Given the description of an element on the screen output the (x, y) to click on. 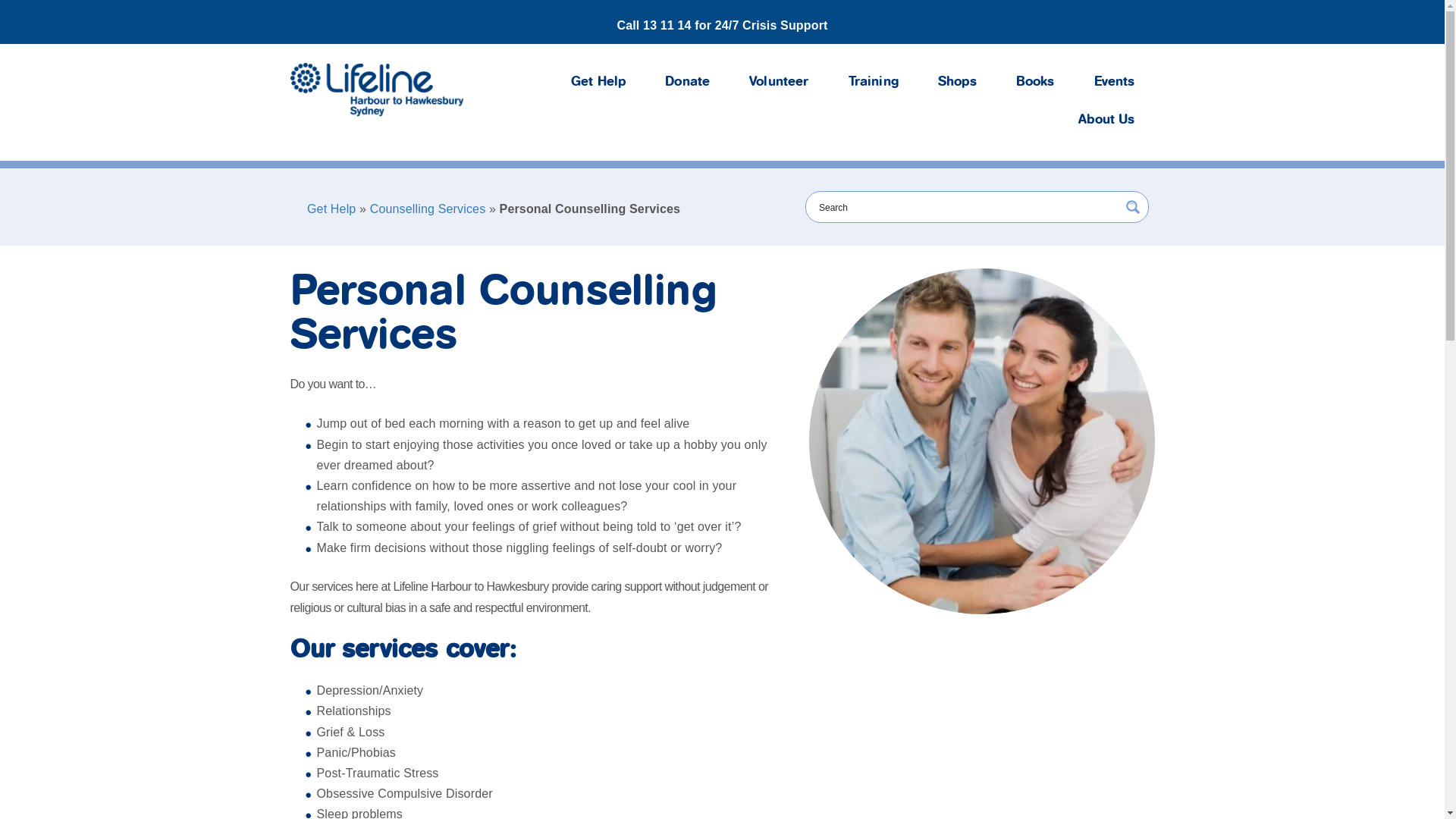
Events Element type: text (1114, 81)
Shops Element type: text (957, 81)
Donate Element type: text (687, 81)
Books Element type: text (1035, 81)
Training Element type: text (873, 81)
Lifeline Harbour to Hawkesbury Sydney Element type: hover (375, 89)
Volunteer Element type: text (778, 81)
Get Help Element type: text (331, 208)
Get Help Element type: text (598, 81)
About Us Element type: text (1106, 119)
Counselling Services Element type: text (428, 208)
